Given the description of an element on the screen output the (x, y) to click on. 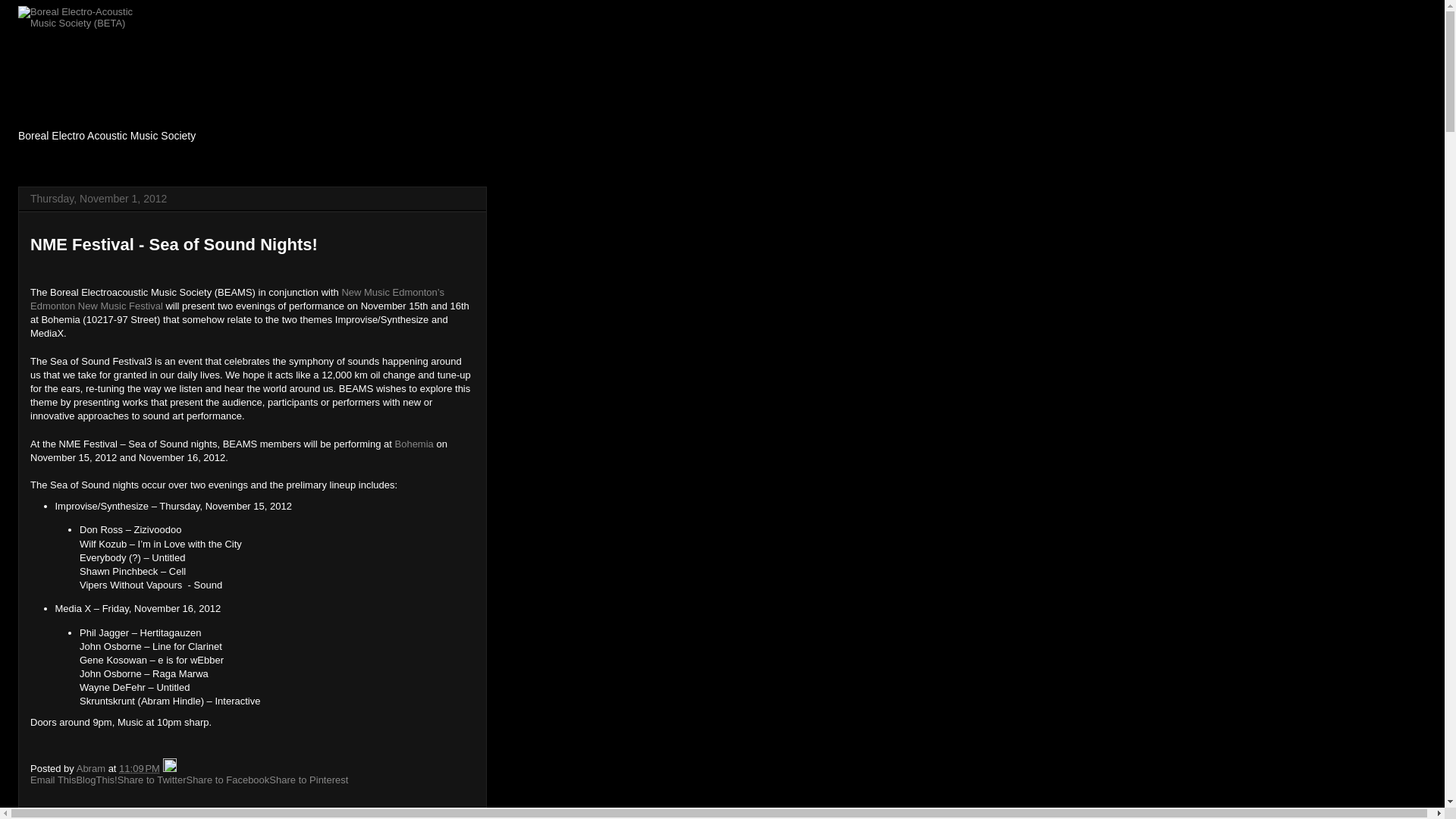
Share to Twitter Element type: text (151, 779)
Edit Post Element type: hover (169, 768)
Share to Pinterest Element type: text (308, 779)
Bohemia Element type: text (413, 443)
BlogThis! Element type: text (95, 779)
Share to Facebook Element type: text (227, 779)
Email This Element type: text (52, 779)
Abram Element type: text (92, 768)
